Given the description of an element on the screen output the (x, y) to click on. 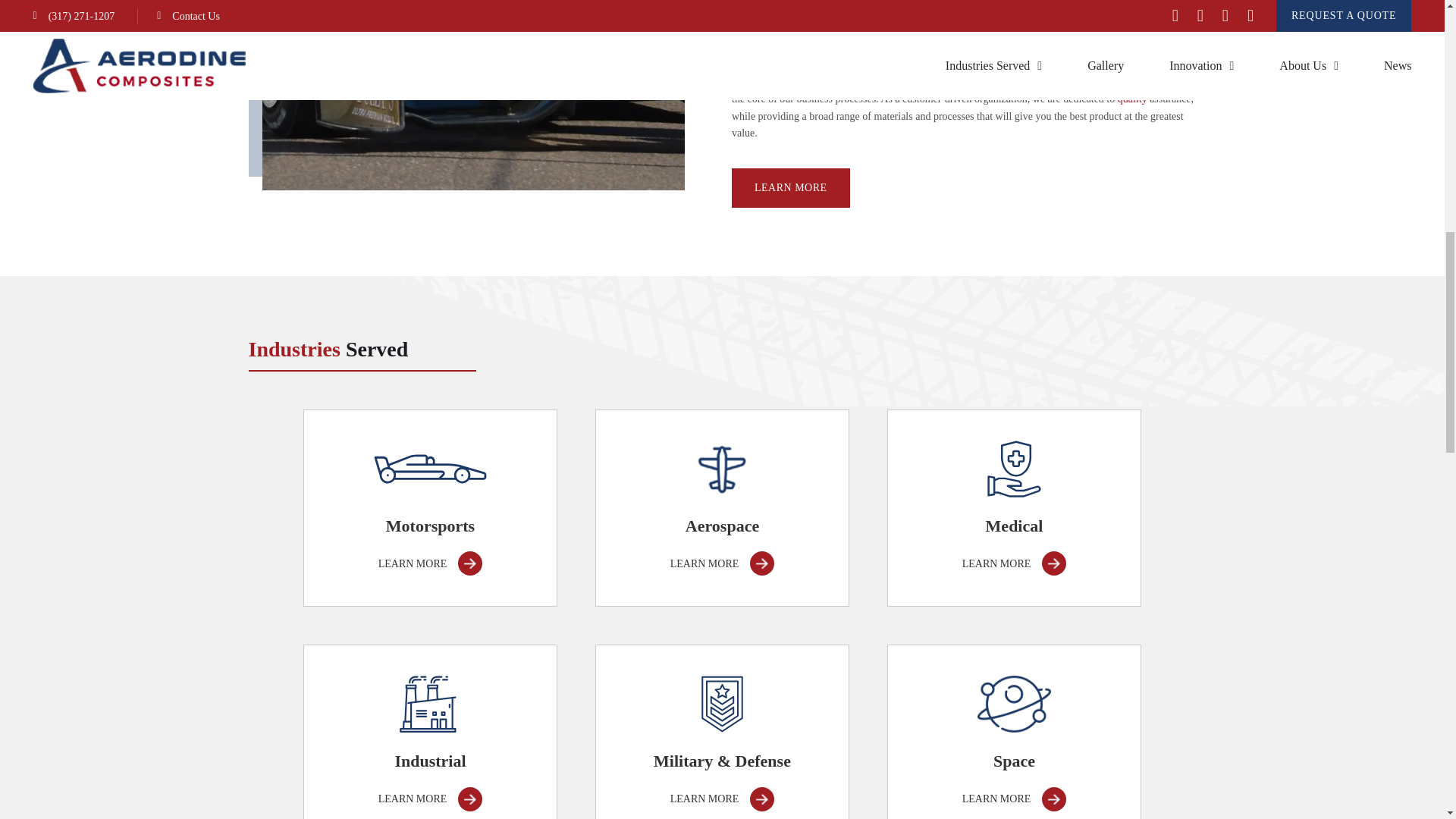
team (761, 82)
quality (1132, 98)
LEARN MORE (791, 188)
